Given the description of an element on the screen output the (x, y) to click on. 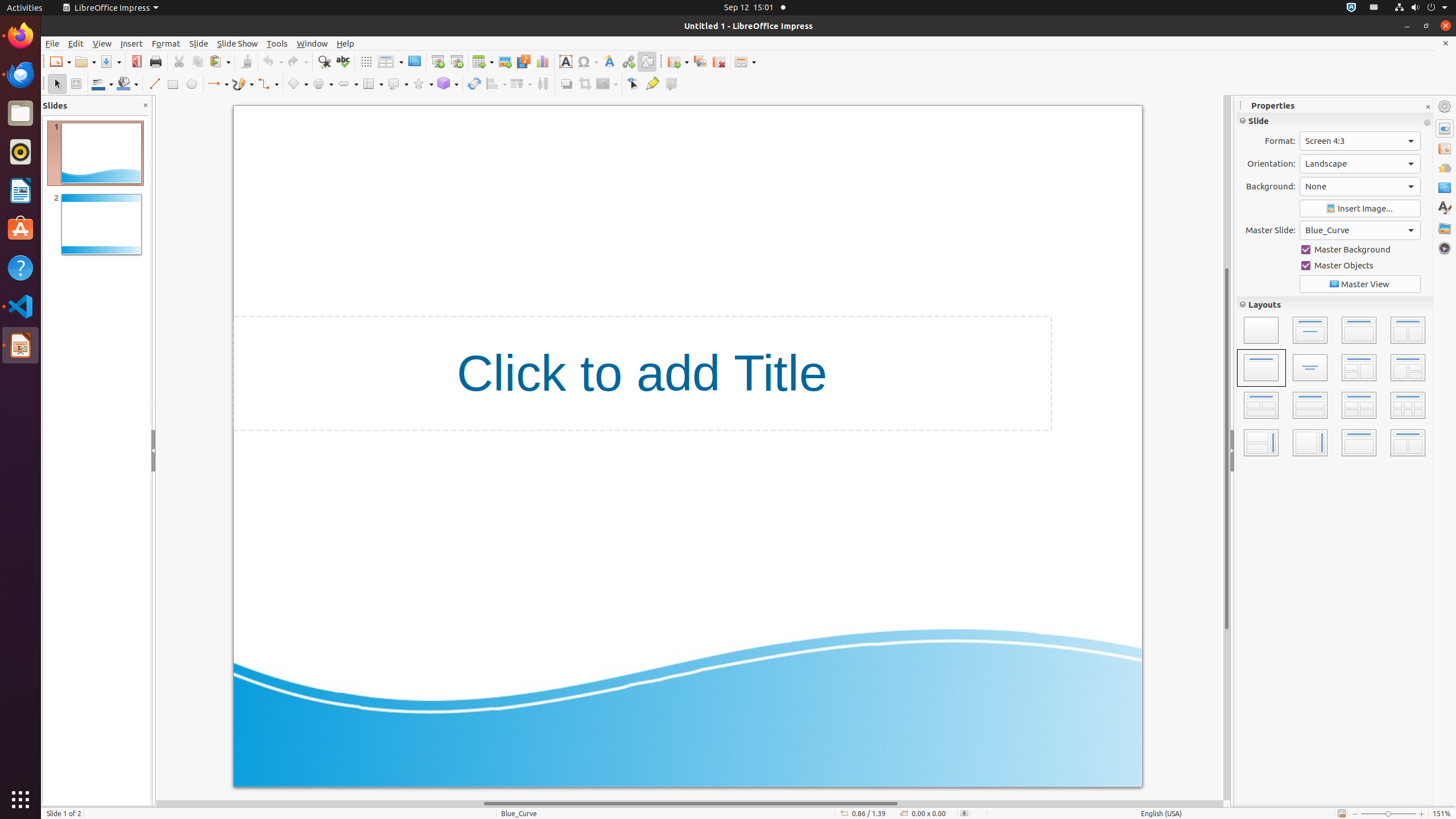
Increase Element type: push-button (1343, 276)
Gallery Element type: radio-button (1444, 227)
Left Element type: push-button (1247, 234)
Slide Transition Element type: radio-button (1444, 148)
Distribution Element type: push-button (542, 83)
